Given the description of an element on the screen output the (x, y) to click on. 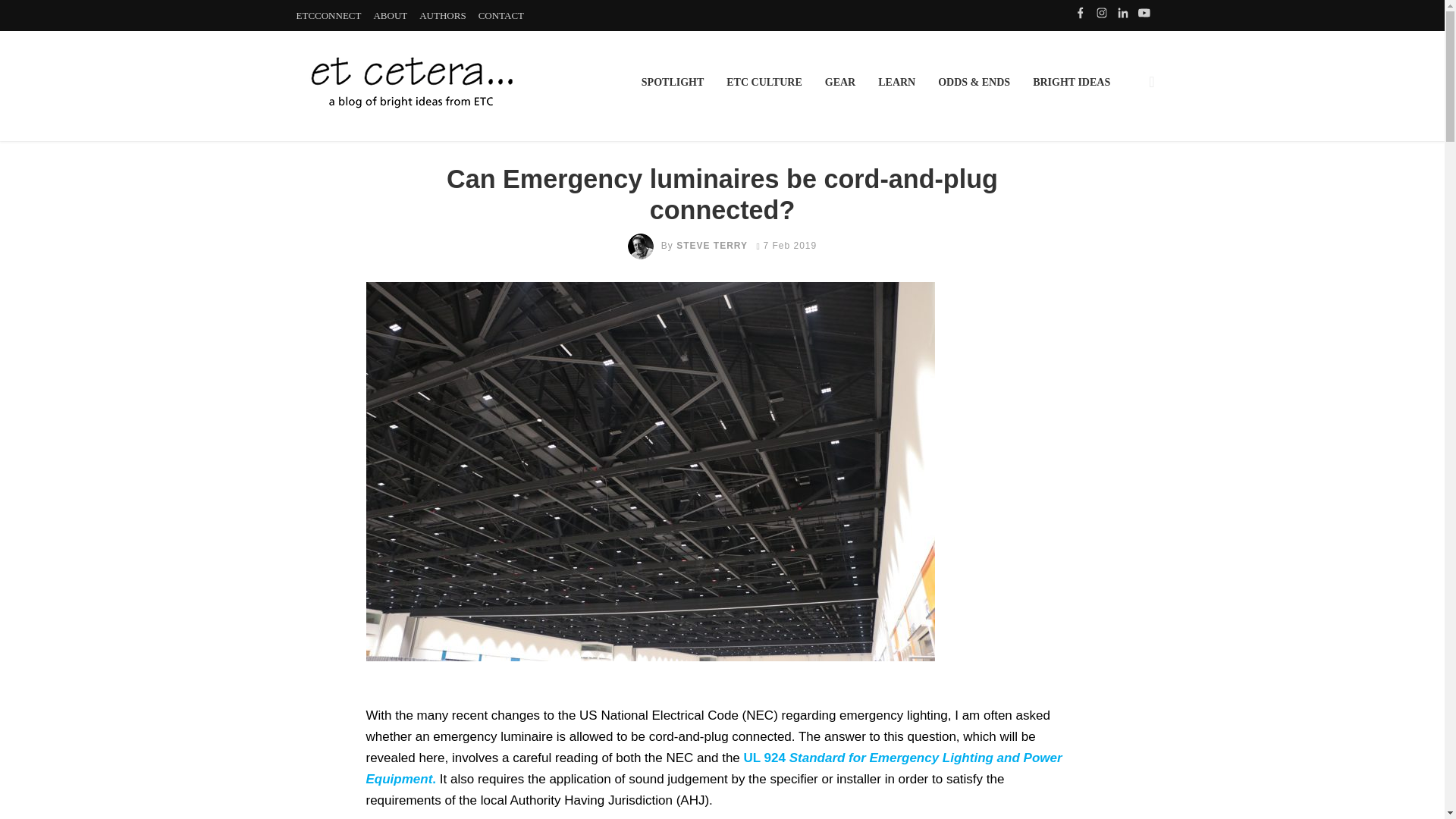
GEAR (839, 82)
BRIGHT IDEAS (1071, 82)
SPOTLIGHT (672, 82)
STEVE TERRY (712, 245)
ETC Blog (410, 81)
LEARN (896, 82)
ETCCONNECT (327, 15)
ETC CULTURE (763, 82)
ABOUT (389, 15)
Posts by Steve Terry (712, 245)
